Given the description of an element on the screen output the (x, y) to click on. 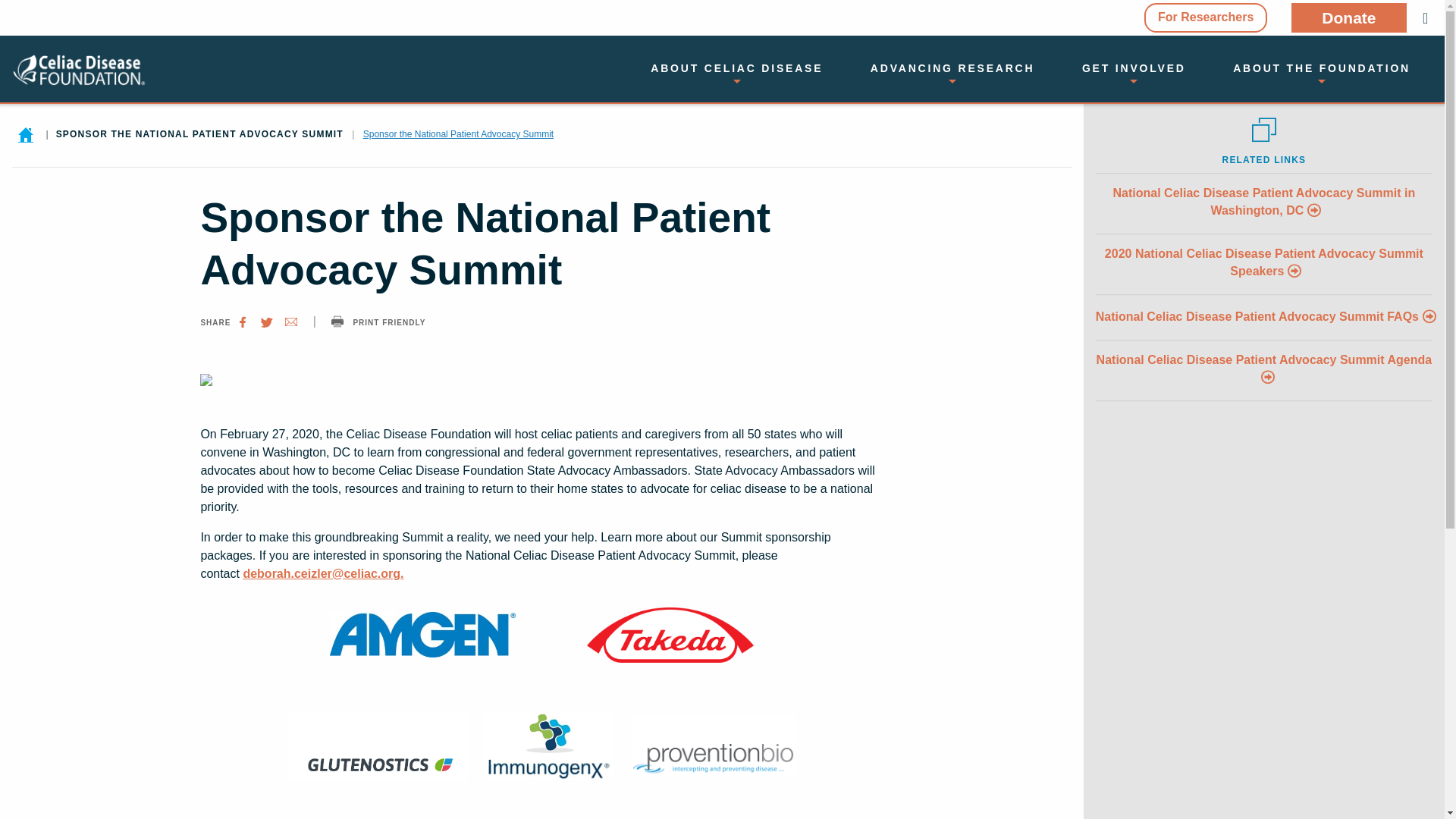
Related Links Icon (1264, 129)
Share on Facebook (241, 321)
Share on Twitter (266, 321)
For Researchers (1205, 17)
ABOUT CELIAC DISEASE (736, 72)
Donate (1348, 17)
ADVANCING RESEARCH (952, 72)
Email this page (291, 321)
